Given the description of an element on the screen output the (x, y) to click on. 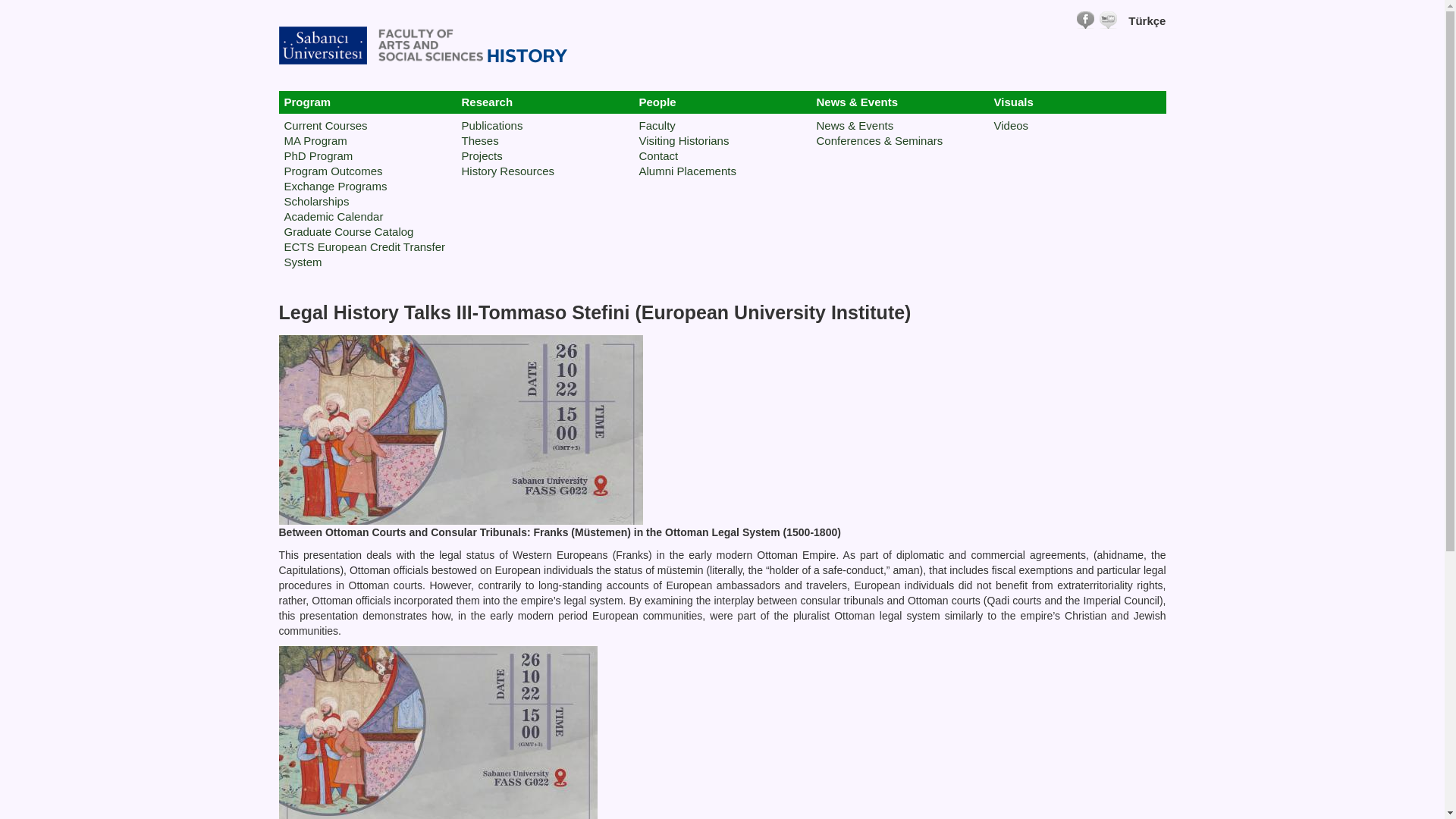
Publications (491, 124)
Visiting Historians (684, 140)
Scholarships (316, 201)
Visiting Historians (684, 140)
Theses (479, 140)
History Resources (507, 170)
MA Program (314, 140)
PhD Program (317, 155)
